Given the description of an element on the screen output the (x, y) to click on. 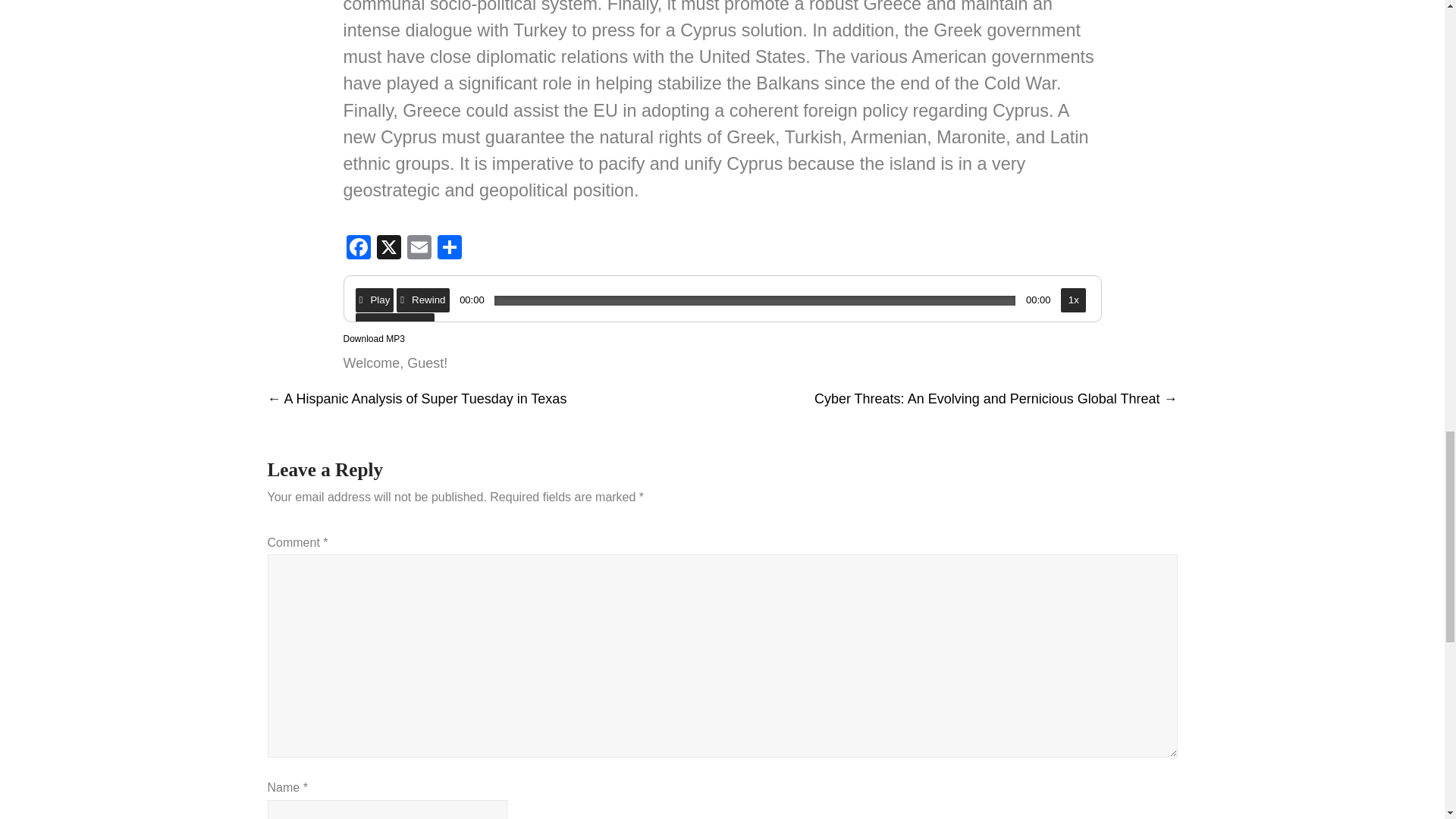
Download MP3 (373, 338)
Email (418, 248)
Email (418, 248)
Facebook (357, 248)
Facebook (357, 248)
X (387, 248)
1x (1073, 300)
Play (374, 300)
Share (448, 248)
Rewind (422, 300)
X (387, 248)
